Given the description of an element on the screen output the (x, y) to click on. 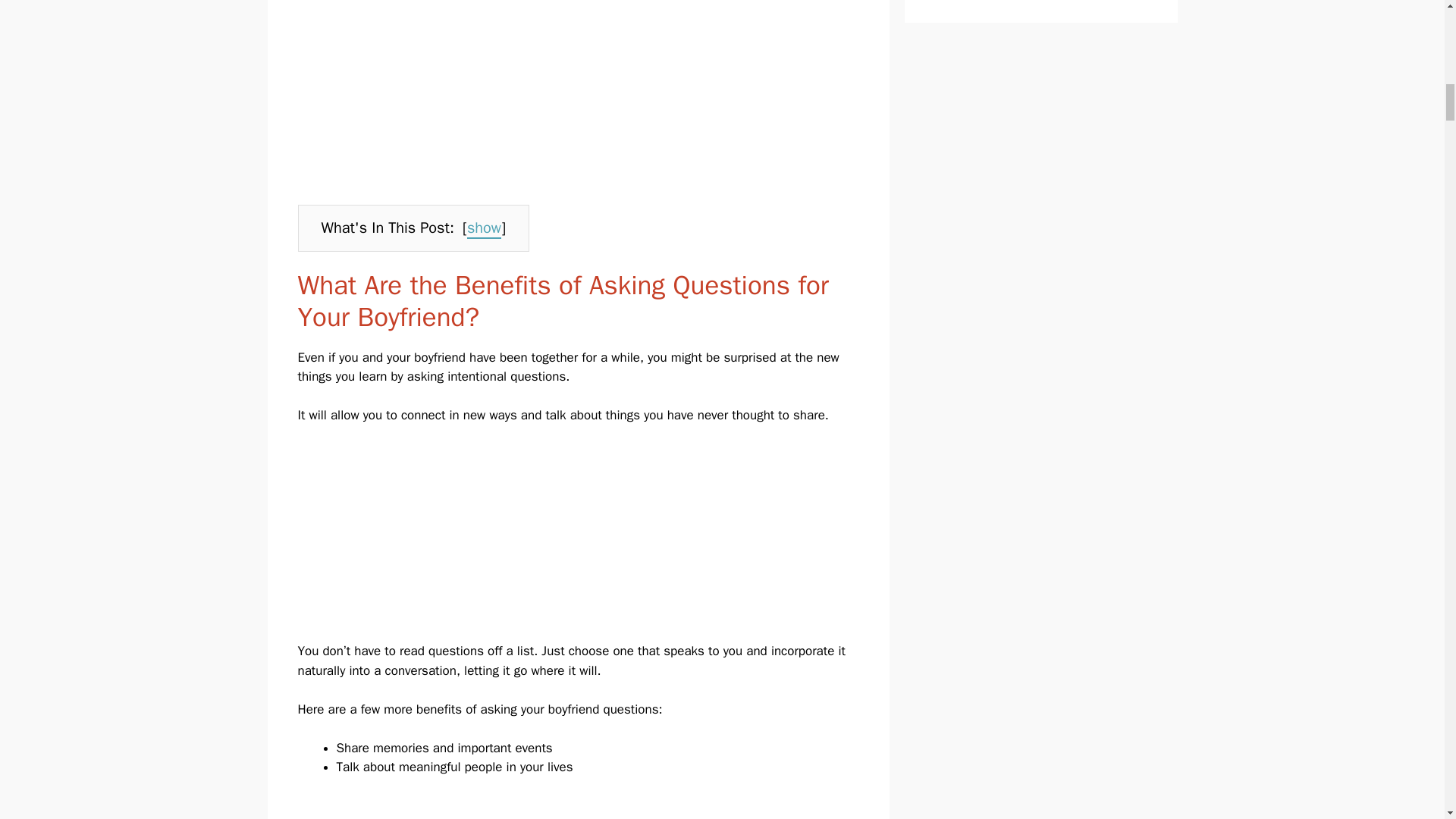
show (483, 228)
